Given the description of an element on the screen output the (x, y) to click on. 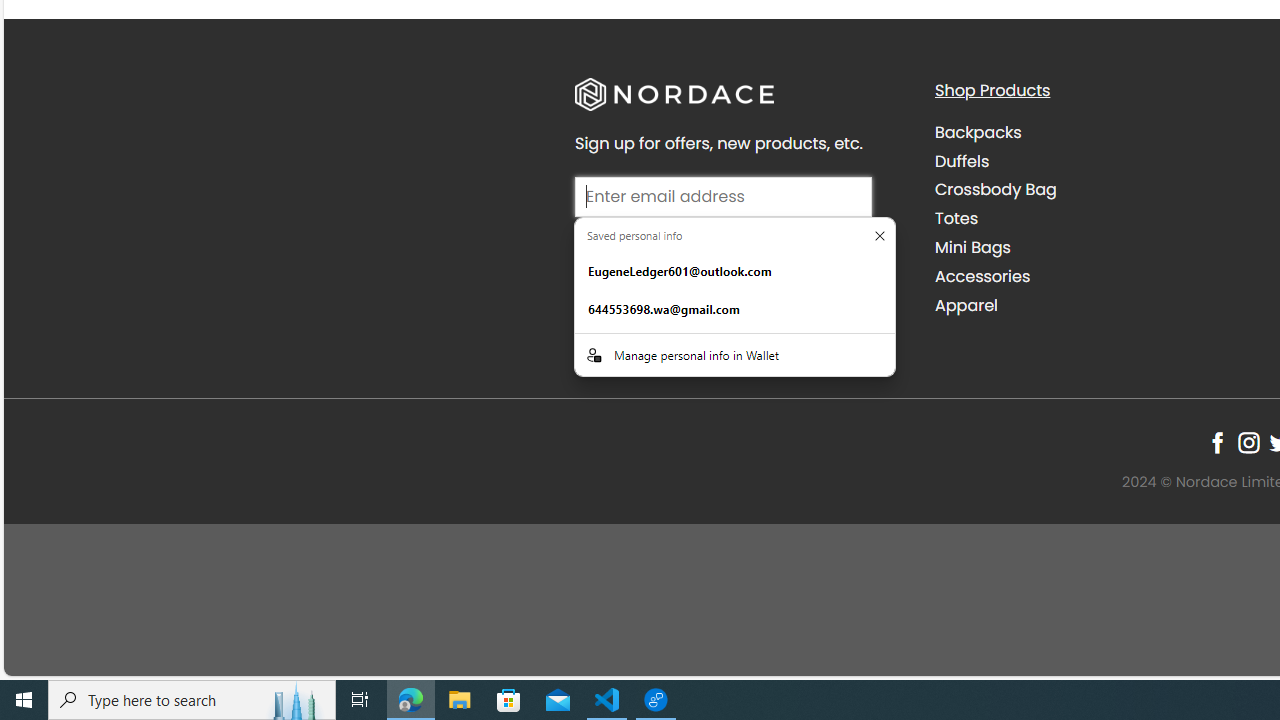
Duffels (961, 160)
Accessories (1099, 276)
AutomationID: field_4_1 (722, 199)
Accessories (982, 276)
644553698.wa@gmail.com. :Basic info suggestion. (734, 309)
Backpacks (1099, 132)
Backpacks (977, 132)
Apparel (1099, 305)
